Given the description of an element on the screen output the (x, y) to click on. 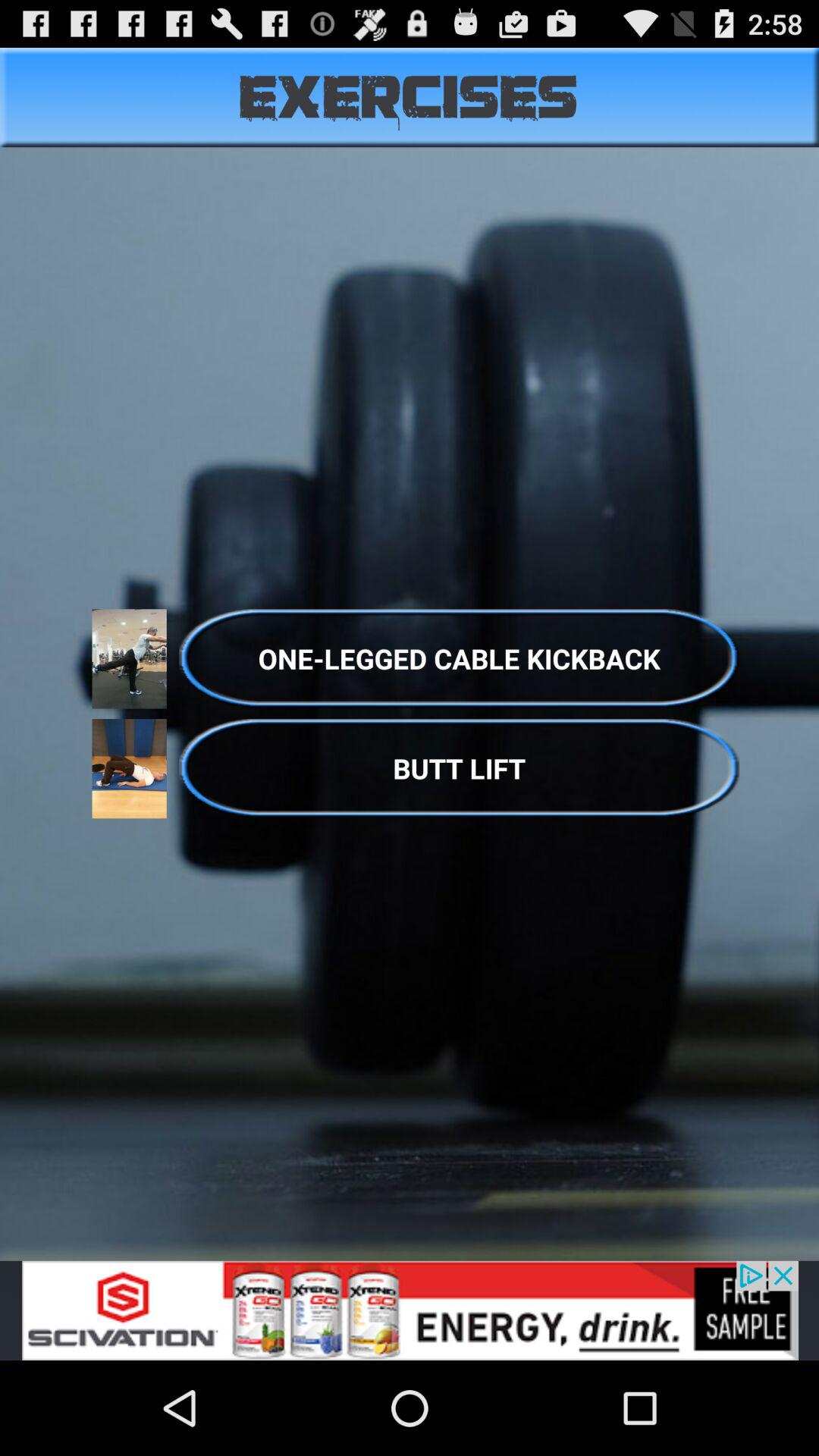
advertisement (409, 1310)
